Given the description of an element on the screen output the (x, y) to click on. 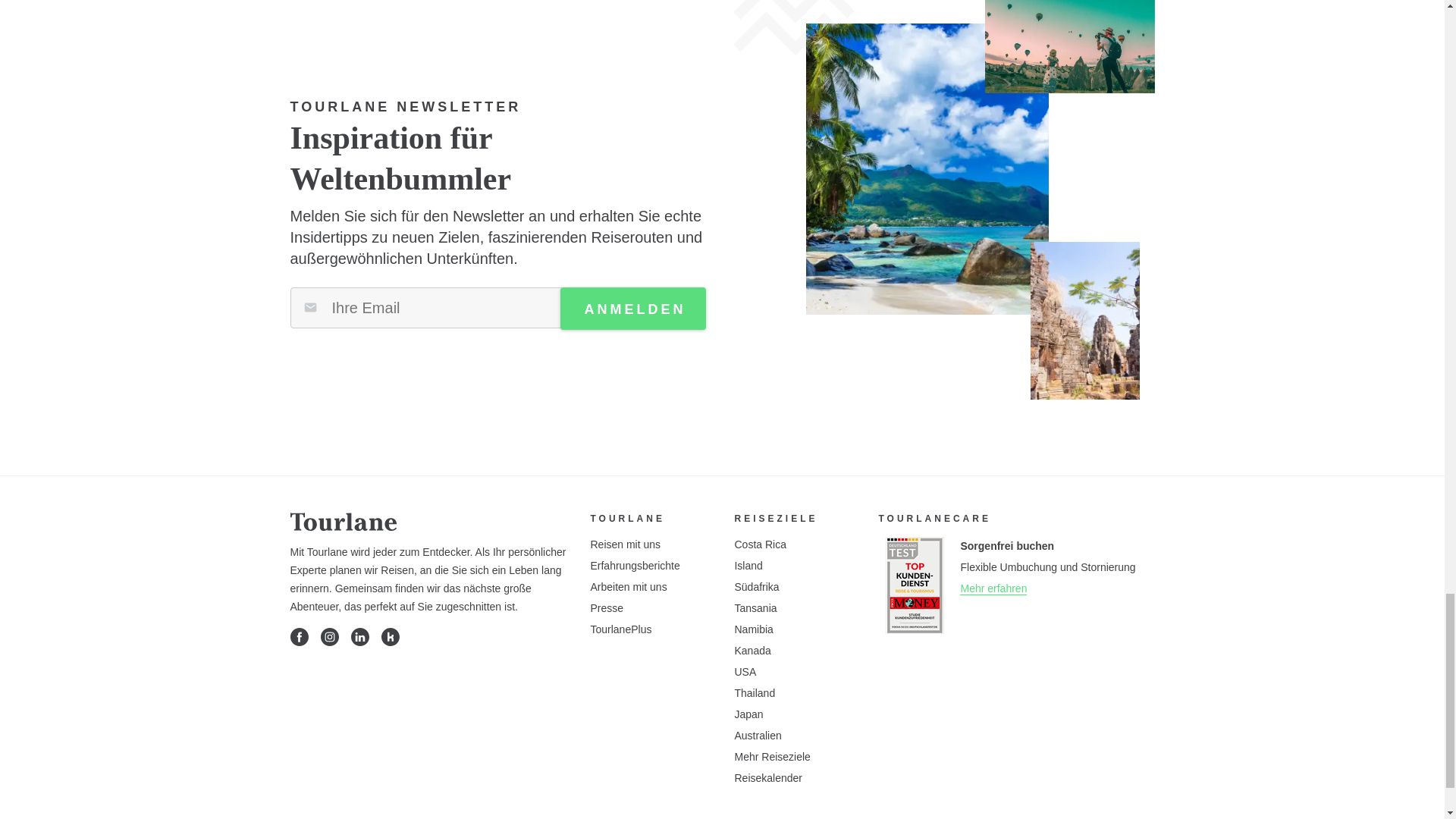
LinkedIn (359, 637)
Facebook (298, 637)
ANMELDEN (631, 308)
Instagram (328, 637)
